Given the description of an element on the screen output the (x, y) to click on. 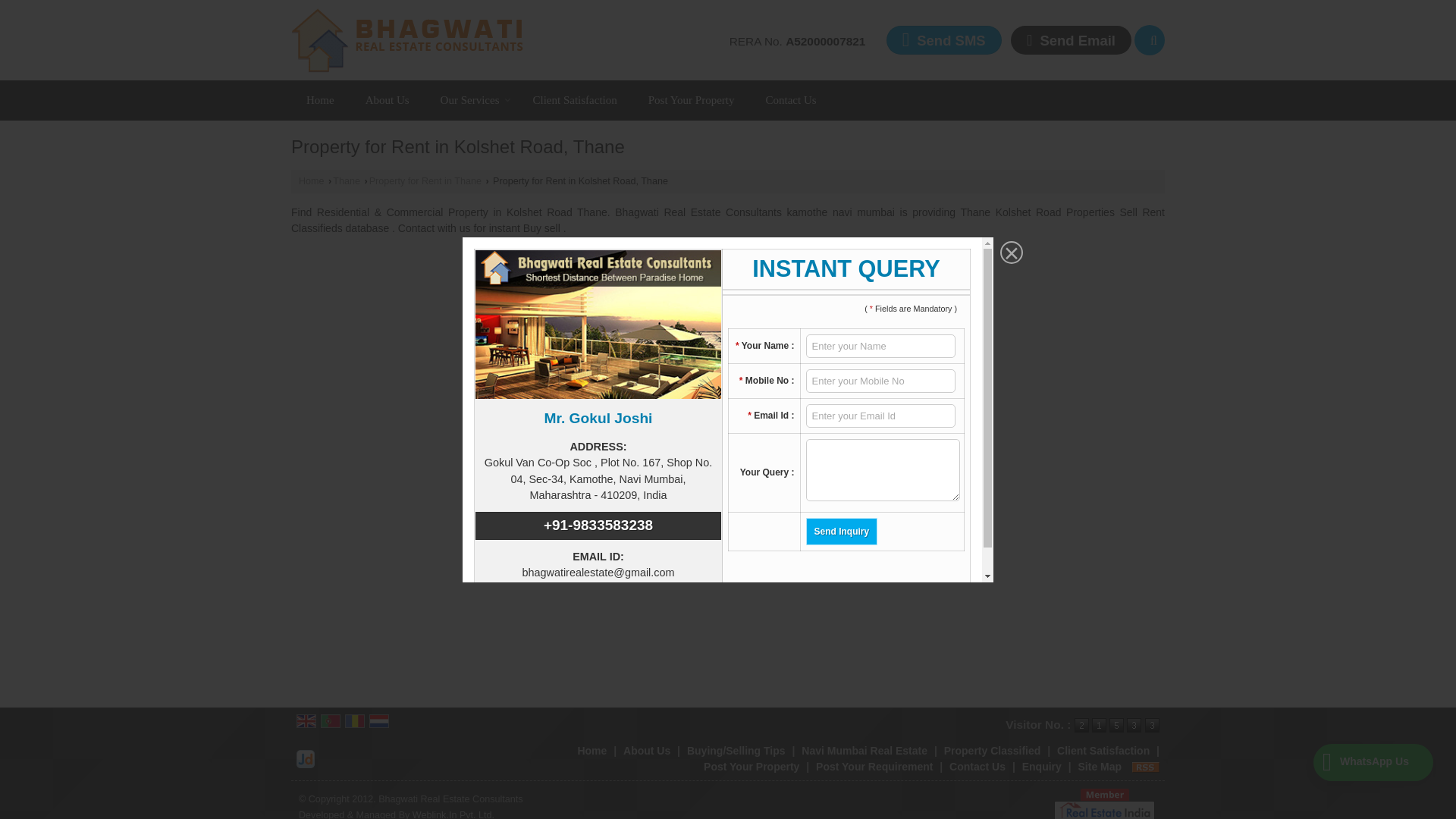
Property Classified (992, 750)
About Us (387, 100)
Client Satisfaction (573, 100)
Home (320, 100)
Post Your Requirement (874, 766)
Close (1009, 253)
Property in Thane (346, 181)
Contact Us (977, 766)
Home (320, 100)
Post Your Property (691, 100)
Home (591, 750)
Contact Us (791, 100)
Post Your Property (751, 766)
Navi Mumbai Real Estate (864, 750)
Post Your Property (691, 100)
